Given the description of an element on the screen output the (x, y) to click on. 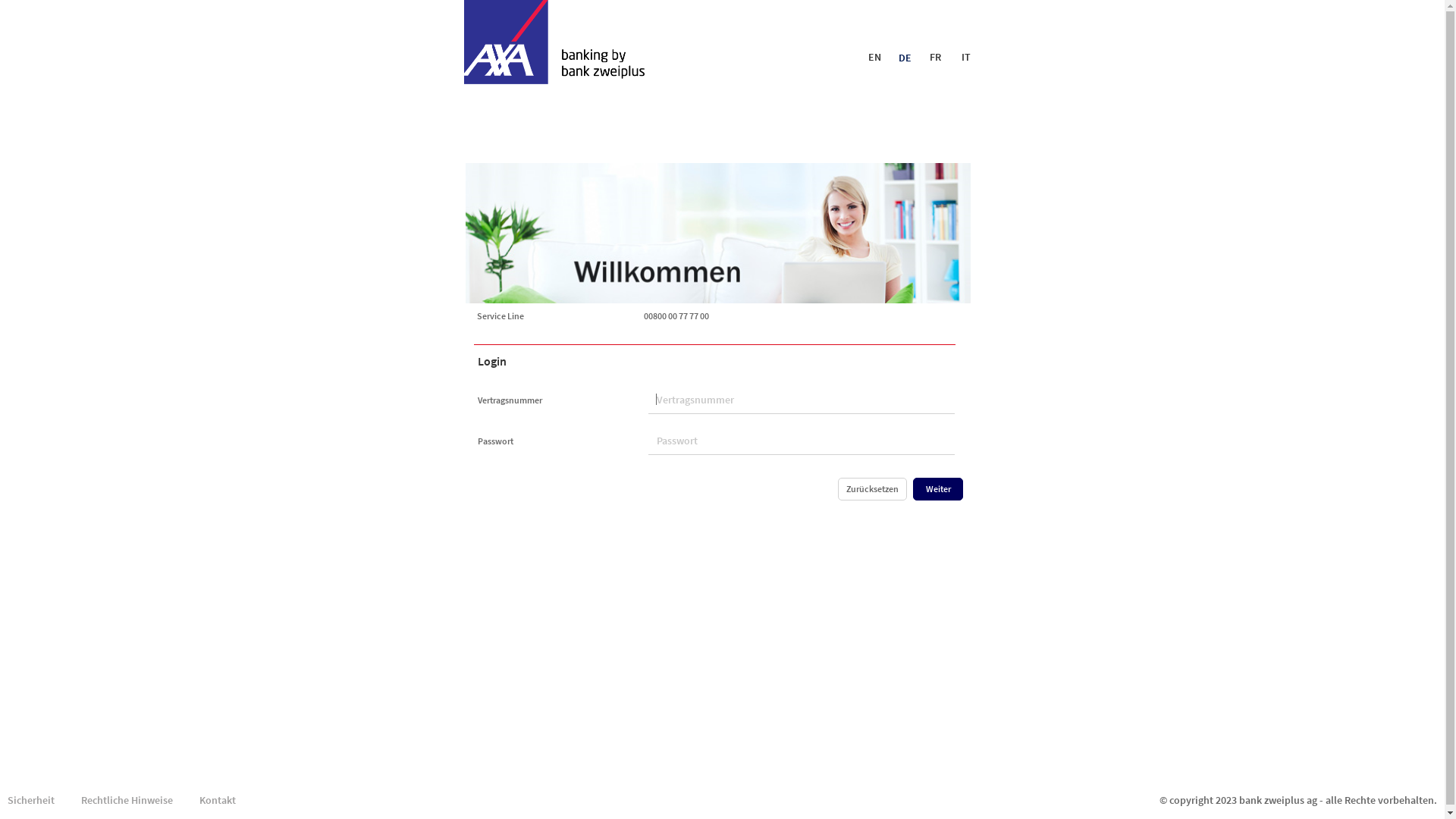
FR Element type: text (935, 56)
IT Element type: text (965, 56)
Sicherheit Element type: text (31, 799)
EN Element type: text (874, 56)
Weiter Element type: text (938, 488)
DE Element type: text (905, 57)
Rechtliche Hinweise Element type: text (126, 799)
Kontakt Element type: text (217, 799)
